Given the description of an element on the screen output the (x, y) to click on. 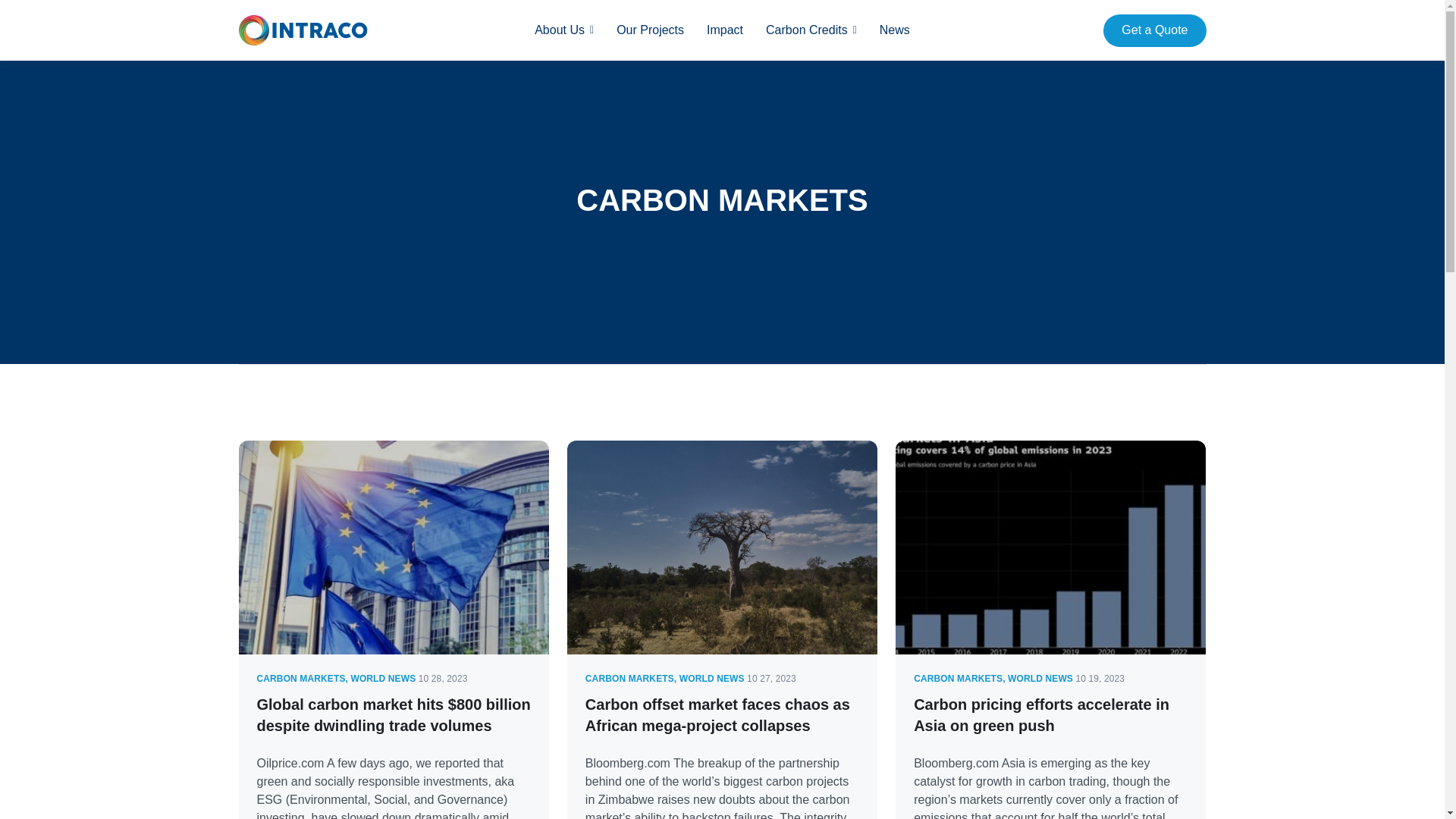
WORLD NEWS (711, 678)
Carbon Credits (806, 29)
WORLD NEWS (382, 678)
Get a Quote (1154, 29)
Carbon pricing efforts accelerate in Asia on green push (1041, 714)
News (894, 29)
CARBON MARKETS (300, 678)
Our Projects (649, 29)
WORLD NEWS (1040, 678)
About Us (559, 29)
CARBON MARKETS (958, 678)
CARBON MARKETS (629, 678)
Impact (724, 29)
